Given the description of an element on the screen output the (x, y) to click on. 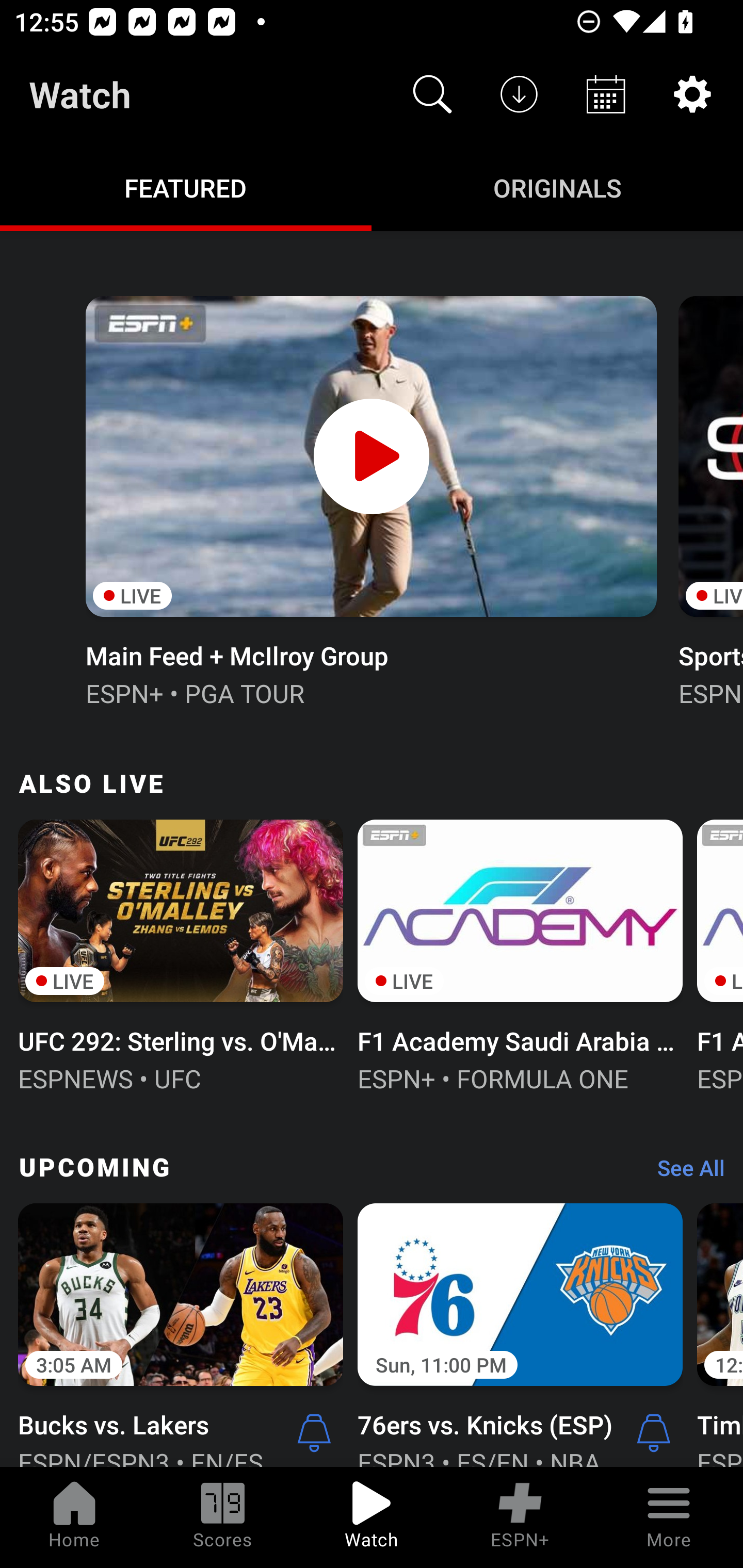
Search (432, 93)
Downloads (518, 93)
Schedule (605, 93)
Settings (692, 93)
Originals ORIGINALS (557, 187)
 LIVE Main Feed + McIlroy Group ESPN+ • PGA TOUR (370, 499)
LIVE UFC 292: Sterling vs. O'Malley ESPNEWS • UFC (180, 954)
See All (683, 1172)
Alerts (314, 1432)
Alerts (653, 1432)
Home (74, 1517)
Scores (222, 1517)
ESPN+ (519, 1517)
More (668, 1517)
